Given the description of an element on the screen output the (x, y) to click on. 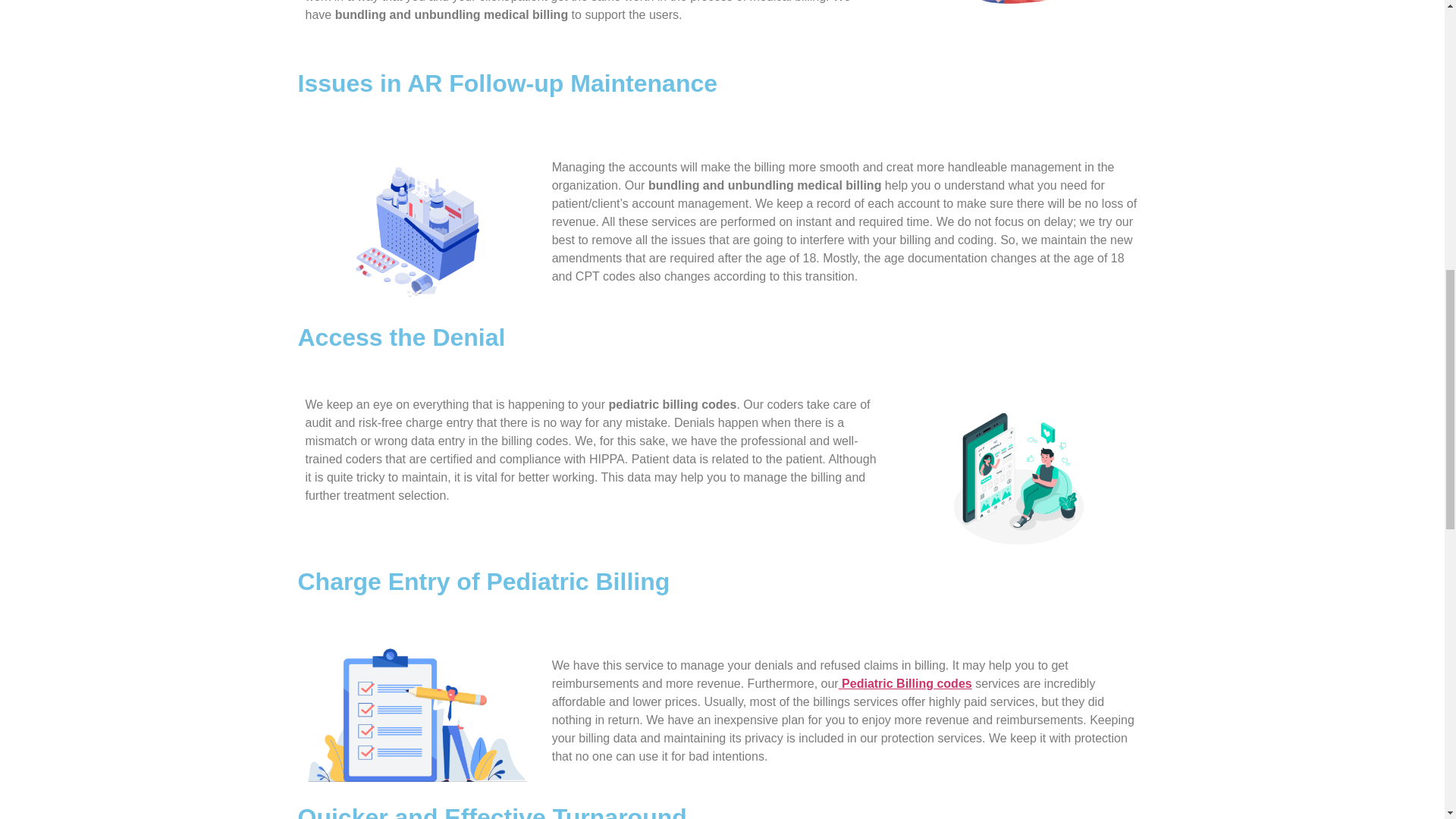
 Pediatric Billing codes (905, 683)
